Given the description of an element on the screen output the (x, y) to click on. 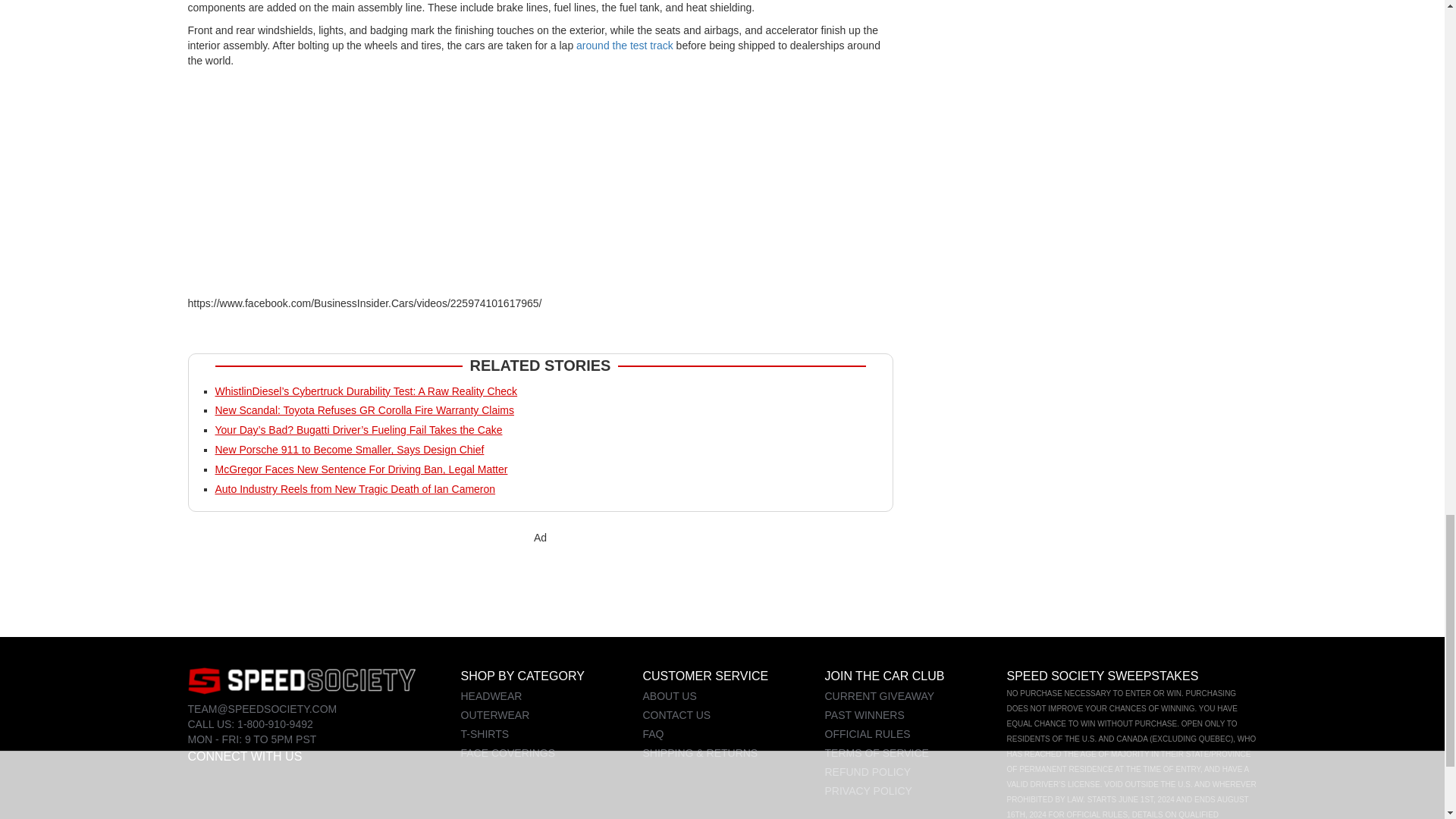
around the test track (624, 45)
footer logo (300, 680)
New Scandal: Toyota Refuses GR Corolla Fire Warranty Claims (364, 410)
